Given the description of an element on the screen output the (x, y) to click on. 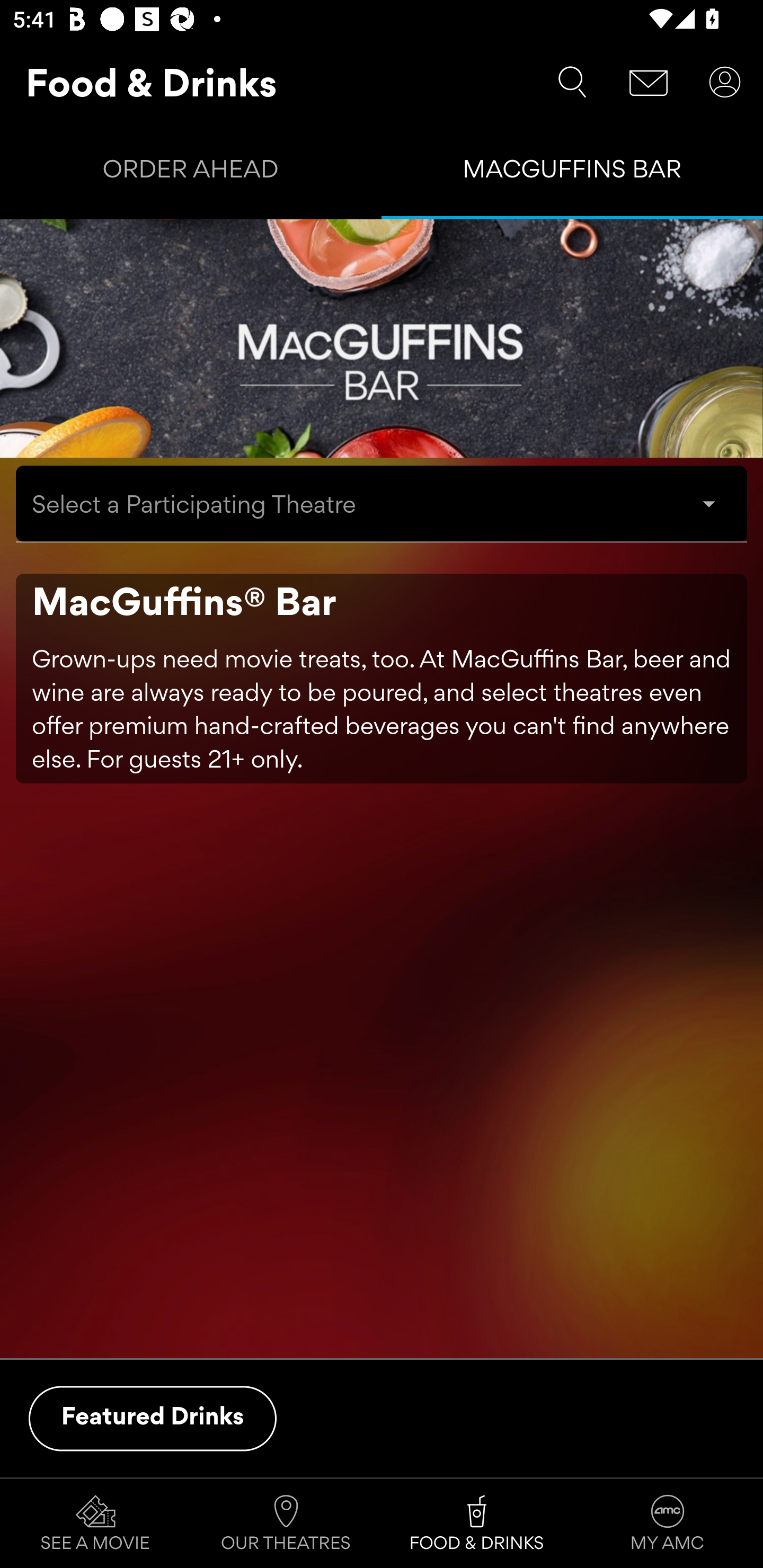
Search (572, 82)
Message Center (648, 82)
User Account (724, 82)
ORDER AHEAD
Tab 1 of 2 (190, 173)
MACGUFFINS BAR
Tab 2 of 2 (572, 173)
Featured Drinks (152, 1417)
SEE A MOVIE
Tab 1 of 4 (95, 1523)
OUR THEATRES
Tab 2 of 4 (285, 1523)
FOOD & DRINKS
Tab 3 of 4 (476, 1523)
MY AMC
Tab 4 of 4 (667, 1523)
